Given the description of an element on the screen output the (x, y) to click on. 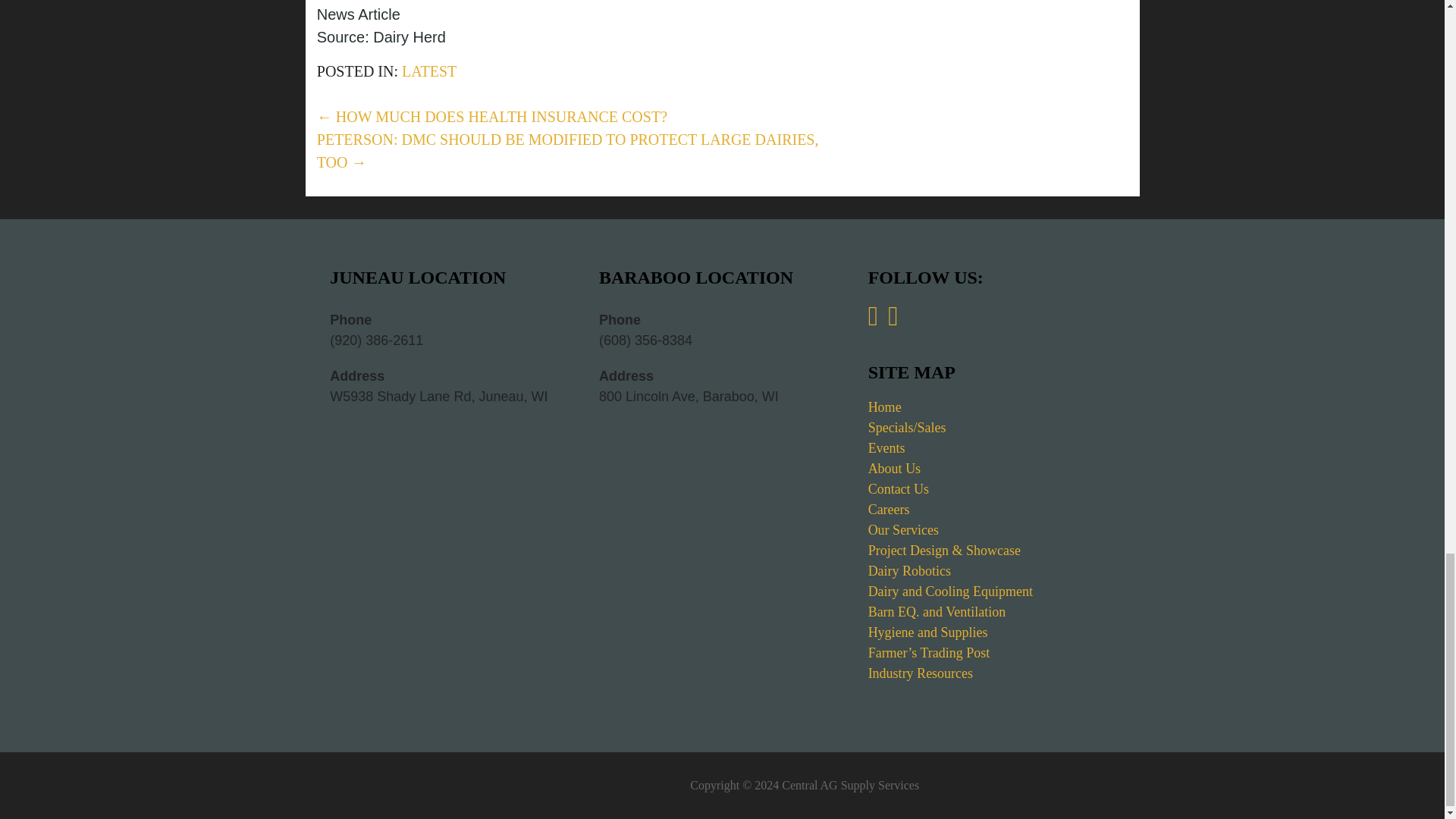
Contact Us (898, 488)
Events (886, 447)
Careers (888, 509)
Our Services (903, 529)
Home (884, 406)
LATEST (429, 71)
Dairy Robotics (909, 570)
About Us (894, 468)
